Given the description of an element on the screen output the (x, y) to click on. 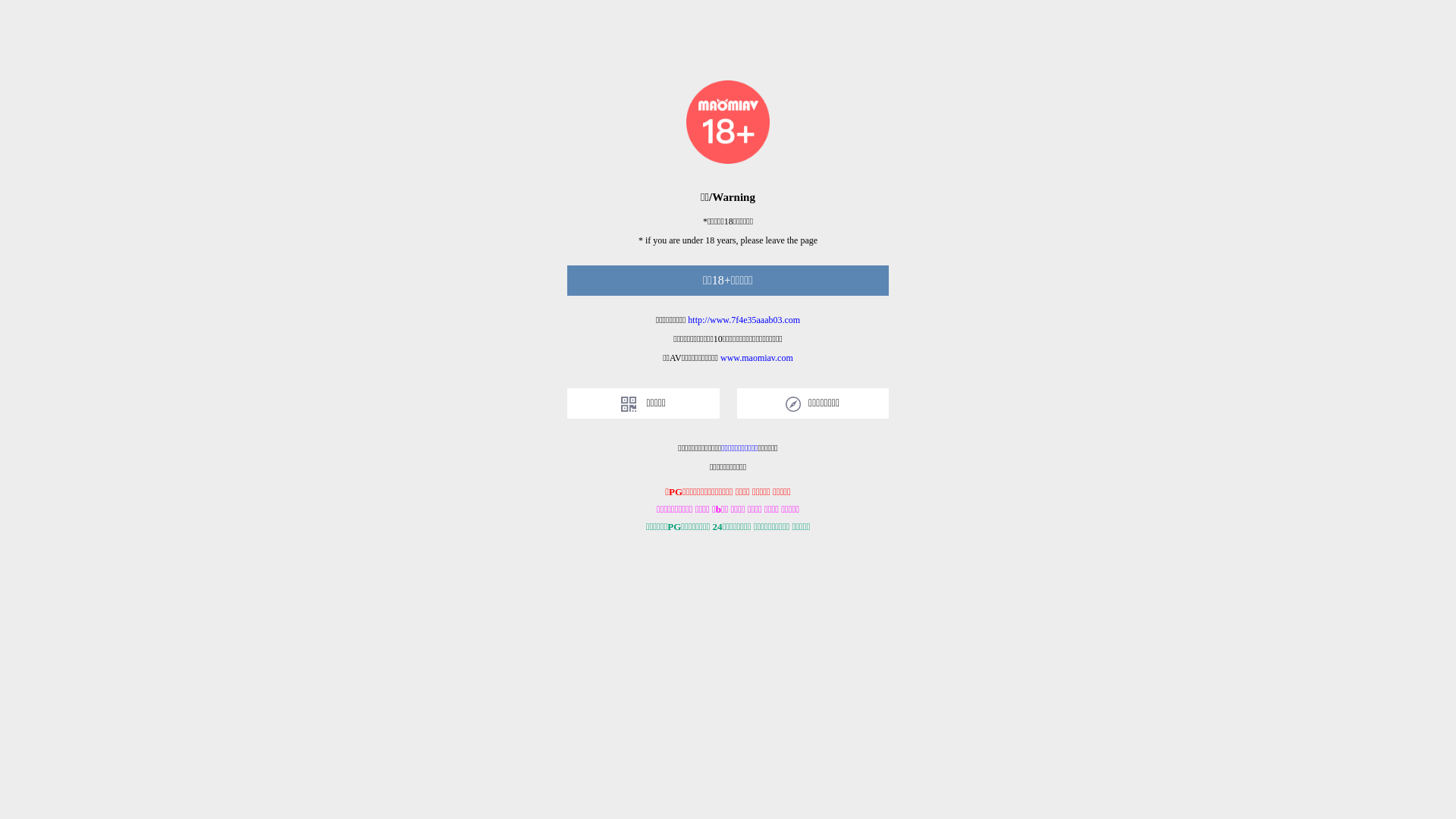
www.maomiav.com Element type: text (756, 357)
http://www.7f4e35aaab03.com Element type: text (743, 319)
